Given the description of an element on the screen output the (x, y) to click on. 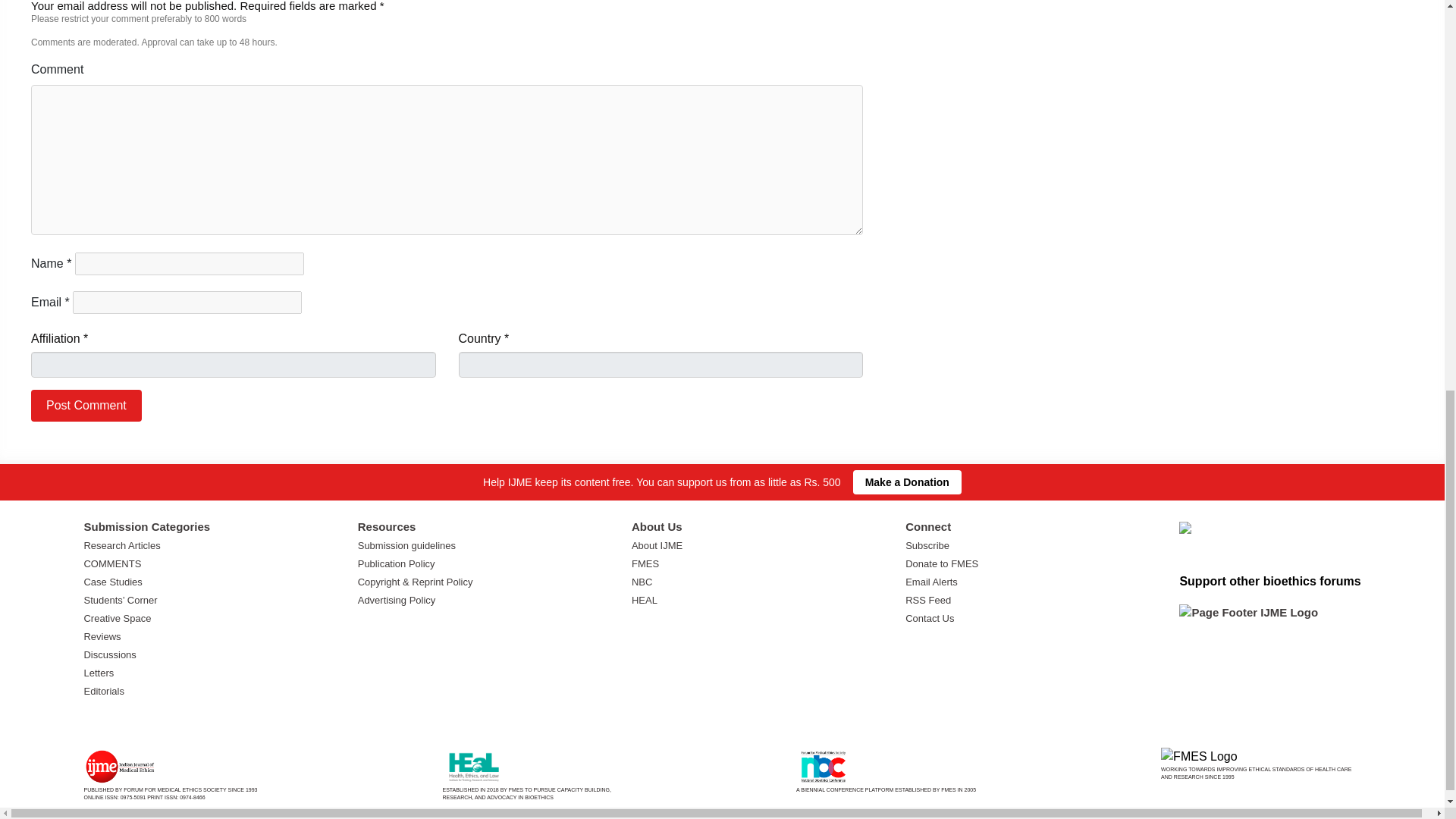
Resources (387, 526)
Submission guidelines (406, 545)
Discussions (108, 654)
Make a Donation (906, 22)
Letters (97, 672)
Research Articles (121, 545)
About Us (656, 526)
Submission Categories (145, 526)
Reviews (101, 636)
Publication Policy (396, 563)
COMMENTS (111, 563)
Editorials (102, 690)
Creative Space (116, 618)
Post Comment (85, 405)
Case Studies (111, 582)
